Given the description of an element on the screen output the (x, y) to click on. 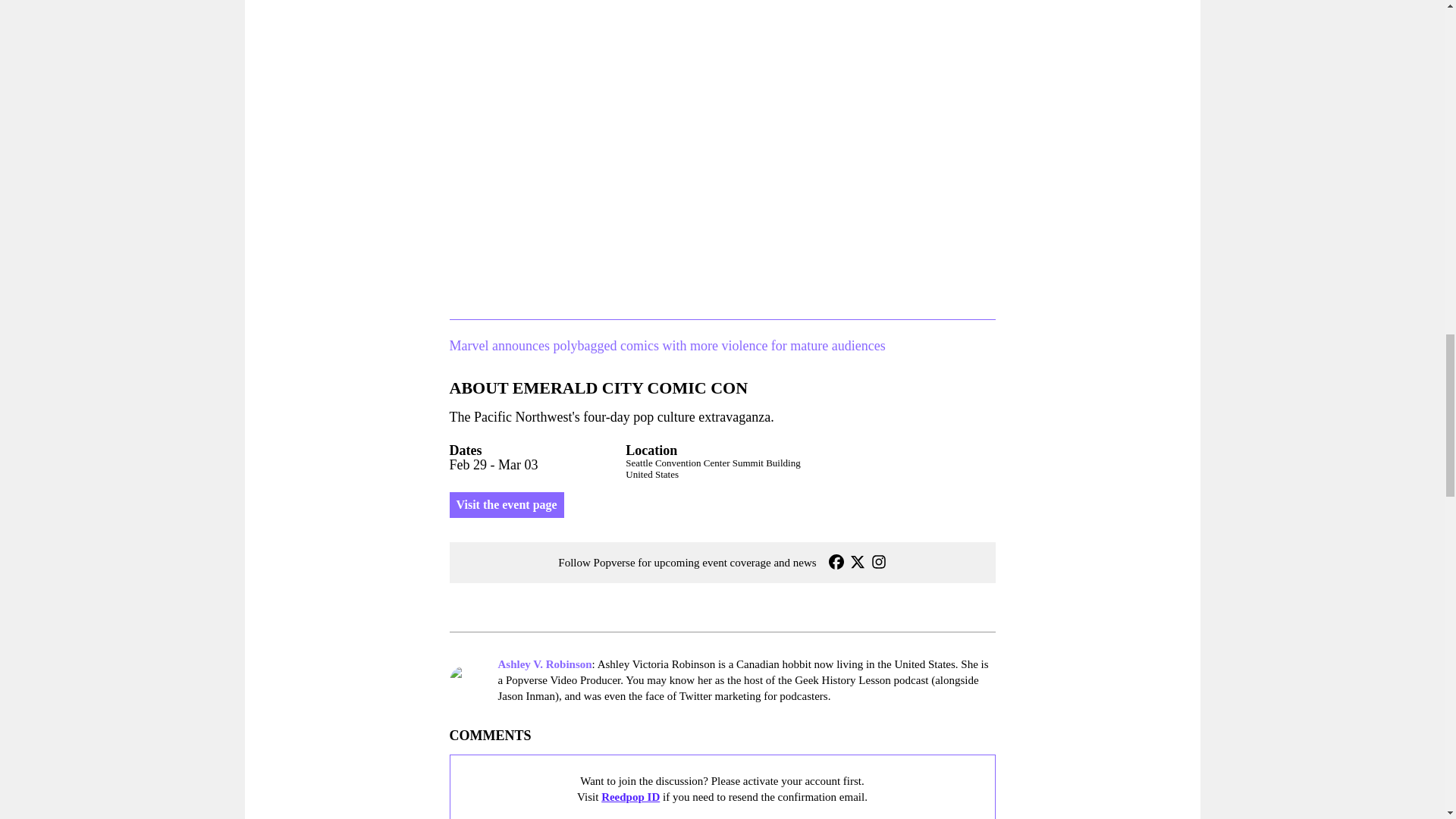
Visit the event page (505, 504)
Ashley V. Robinson (544, 664)
